Given the description of an element on the screen output the (x, y) to click on. 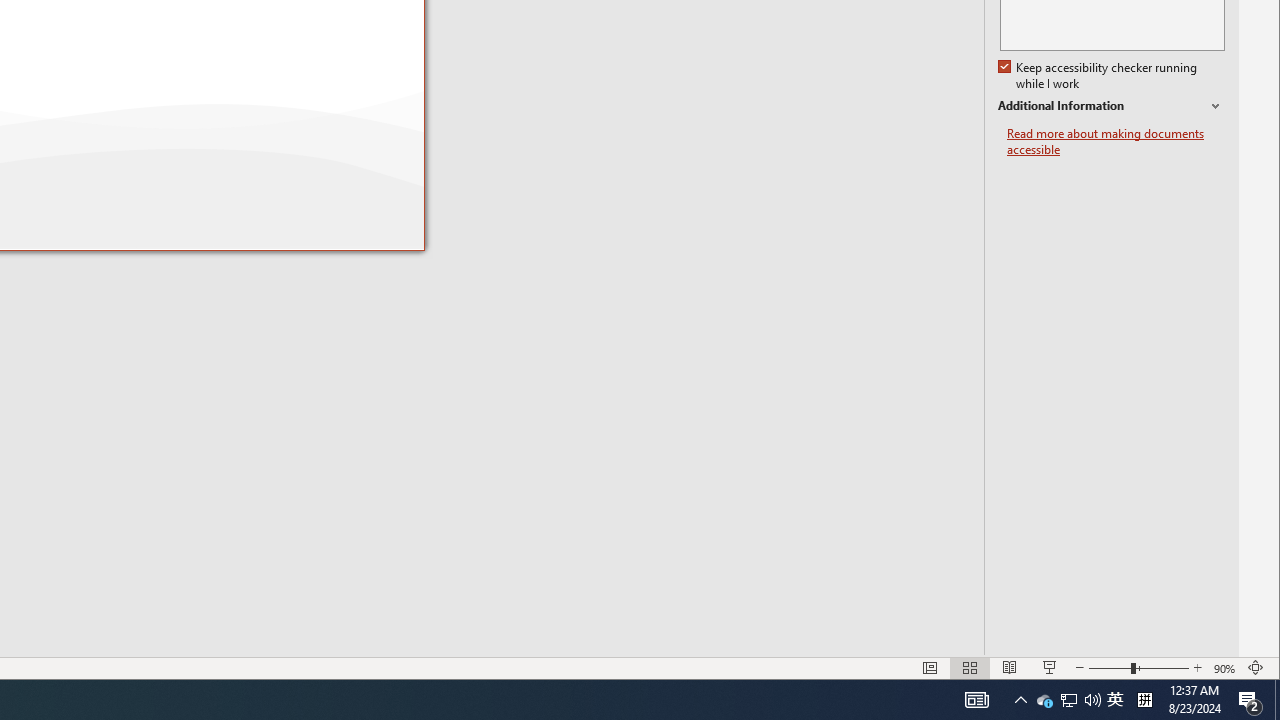
Read more about making documents accessible (1115, 142)
